Given the description of an element on the screen output the (x, y) to click on. 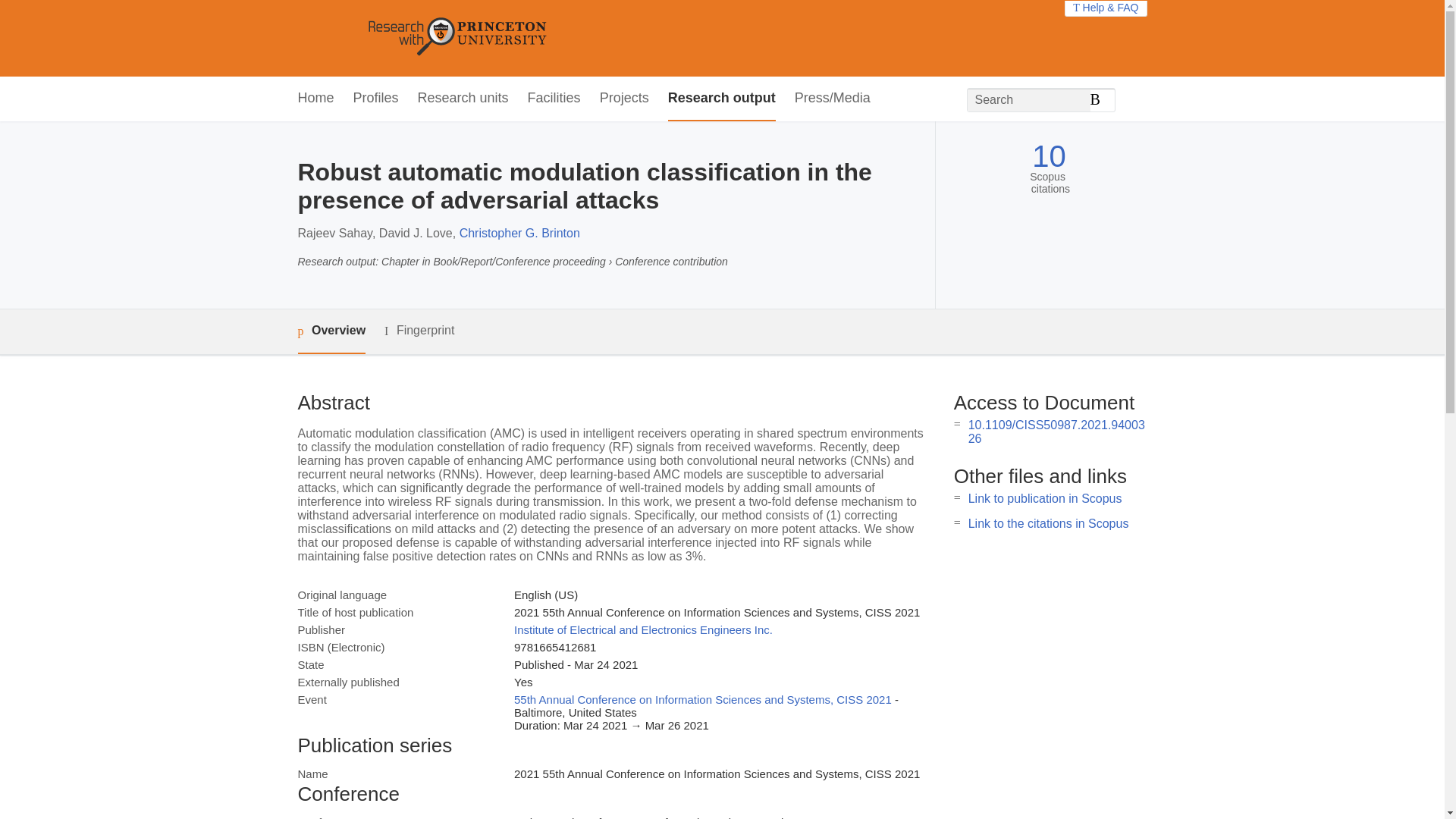
Profiles (375, 98)
Projects (624, 98)
Research units (462, 98)
Overview (331, 331)
Institute of Electrical and Electronics Engineers Inc. (643, 629)
Fingerprint (419, 330)
Home (315, 98)
Link to the citations in Scopus (1048, 522)
10 (1048, 156)
Link to publication in Scopus (1045, 498)
Facilities (553, 98)
Research output (722, 98)
Christopher G. Brinton (519, 232)
